Given the description of an element on the screen output the (x, y) to click on. 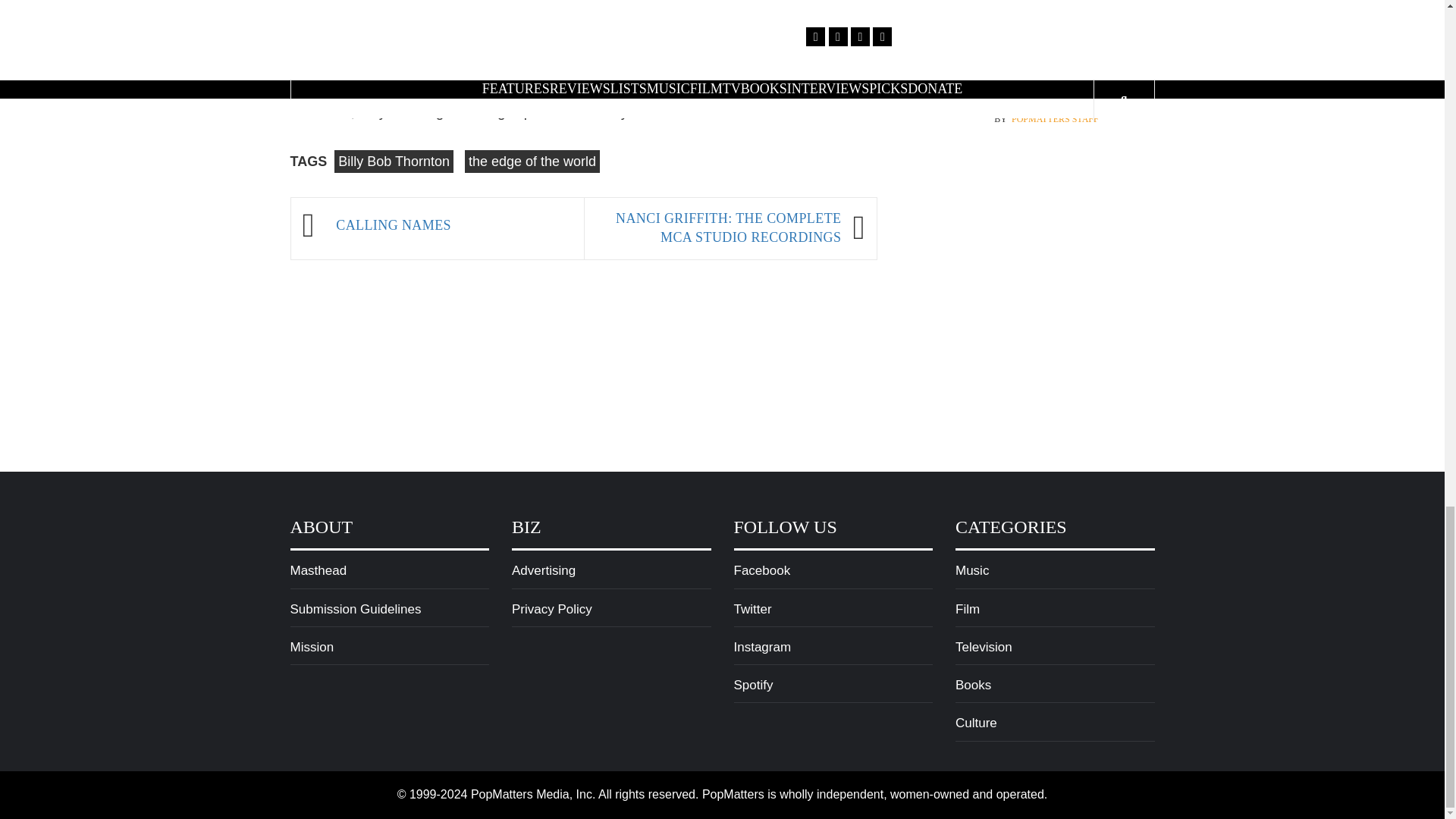
PopMatters Staff (1055, 47)
NANCI GRIFFITH: THE COMPLETE MCA STUDIO RECORDINGS (718, 228)
Billy Bob Thornton (393, 160)
PopMatters Staff (1055, 119)
the edge of the world (531, 160)
CALLING NAMES (451, 225)
